Given the description of an element on the screen output the (x, y) to click on. 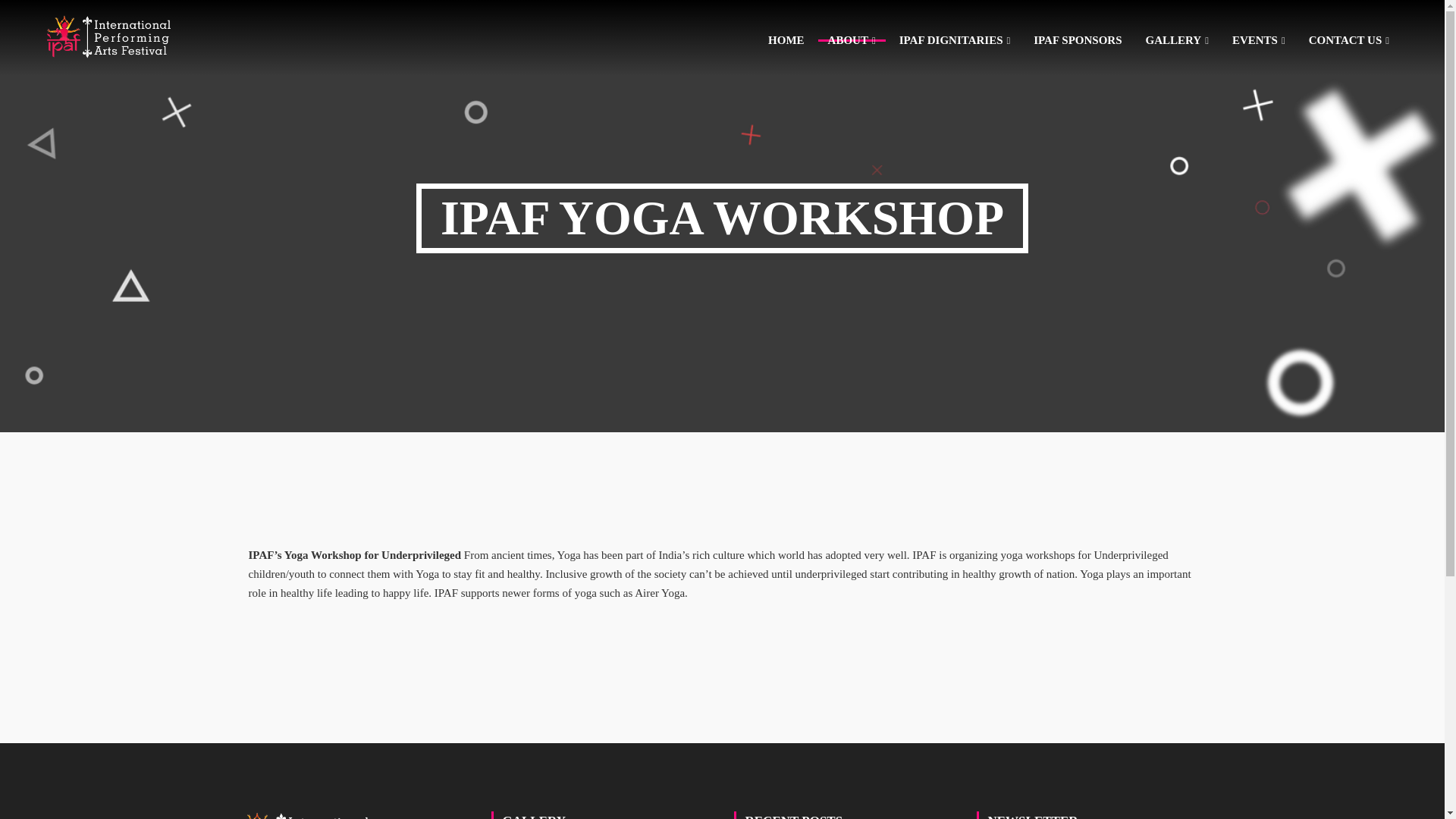
Ipaf Dignitaries (954, 40)
GALLERY (1176, 40)
IPAF SPONSORS (1077, 40)
About (851, 40)
IPAF SPONSORS (1077, 40)
HOME (785, 40)
EVENTS (1259, 40)
ABOUT (851, 40)
IPAF DIGNITARIES (954, 40)
Home (785, 40)
Gallery (1176, 40)
CONTACT US (1348, 40)
Events (1259, 40)
